Given the description of an element on the screen output the (x, y) to click on. 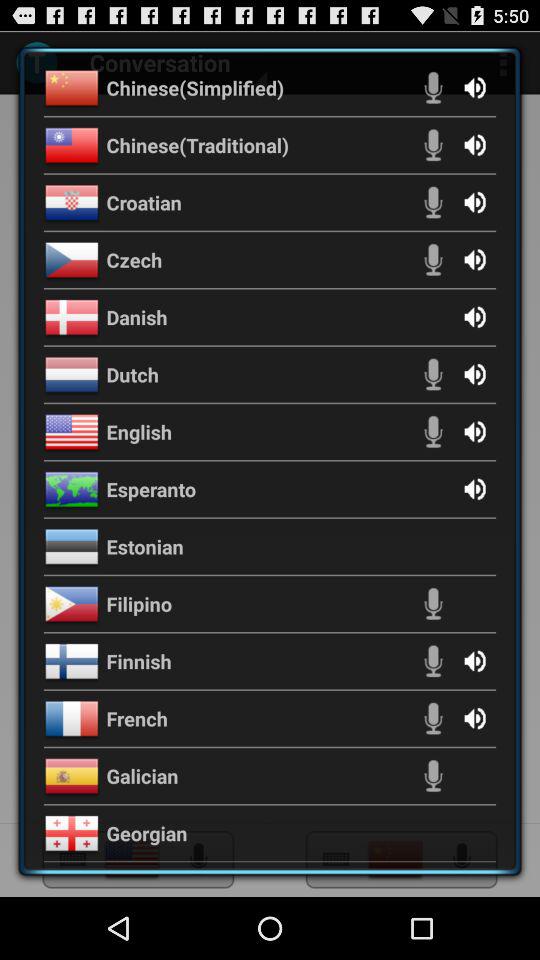
select the icon above finnish icon (139, 603)
